Given the description of an element on the screen output the (x, y) to click on. 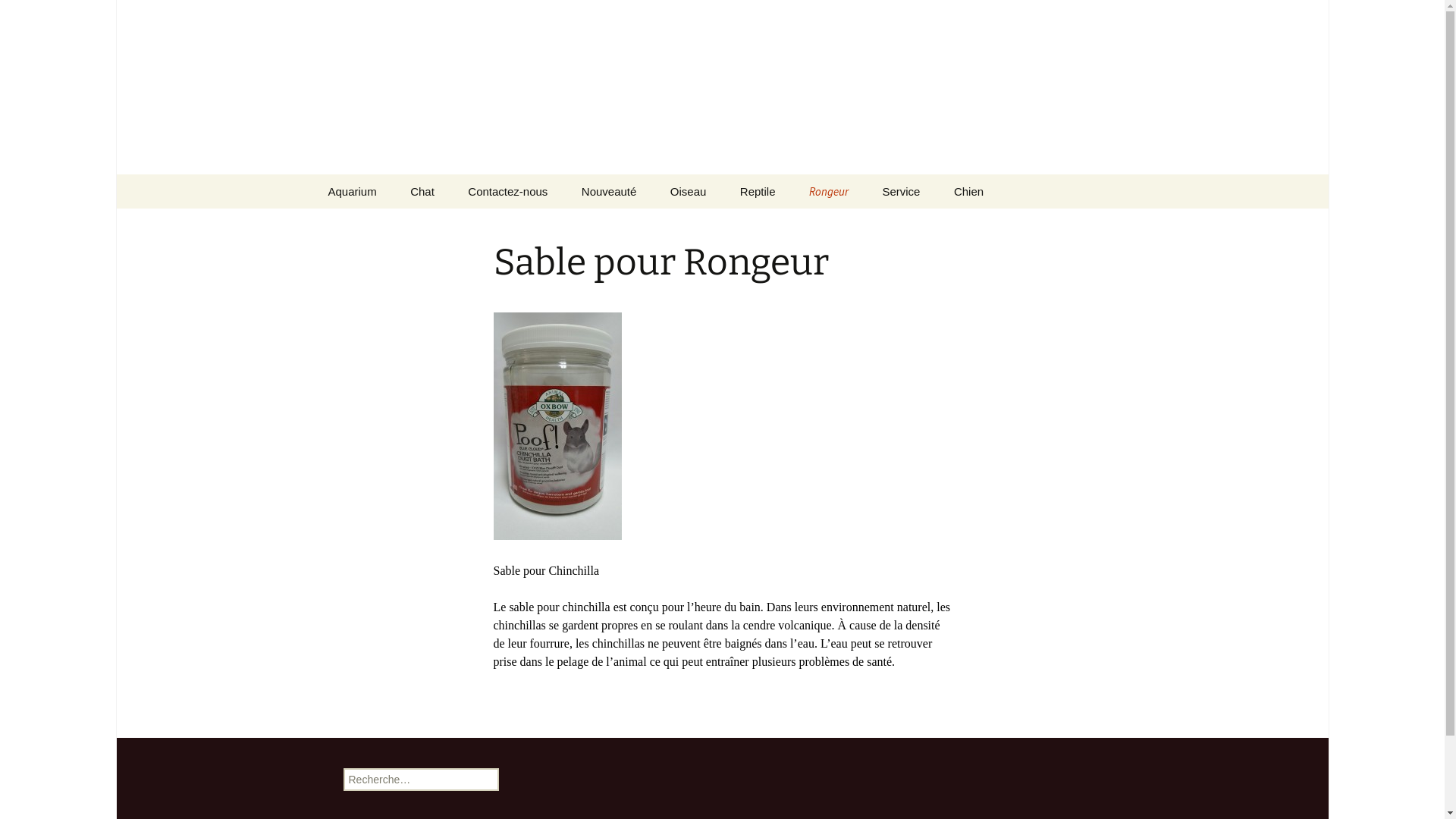
Bug Bites Element type: text (388, 225)
Rongeur Element type: text (828, 191)
Rechercher Element type: text (45, 15)
Cage a oiseau Element type: text (730, 225)
Aquarium Element type: text (351, 191)
Service Element type: text (900, 191)
Chien Element type: text (968, 191)
Aller au contenu Element type: text (312, 174)
Chat Element type: text (422, 191)
Oiseau Element type: text (688, 191)
Reptile Element type: text (757, 191)
Rechercher Element type: text (18, 15)
Contactez-nous Element type: text (507, 191)
